Given the description of an element on the screen output the (x, y) to click on. 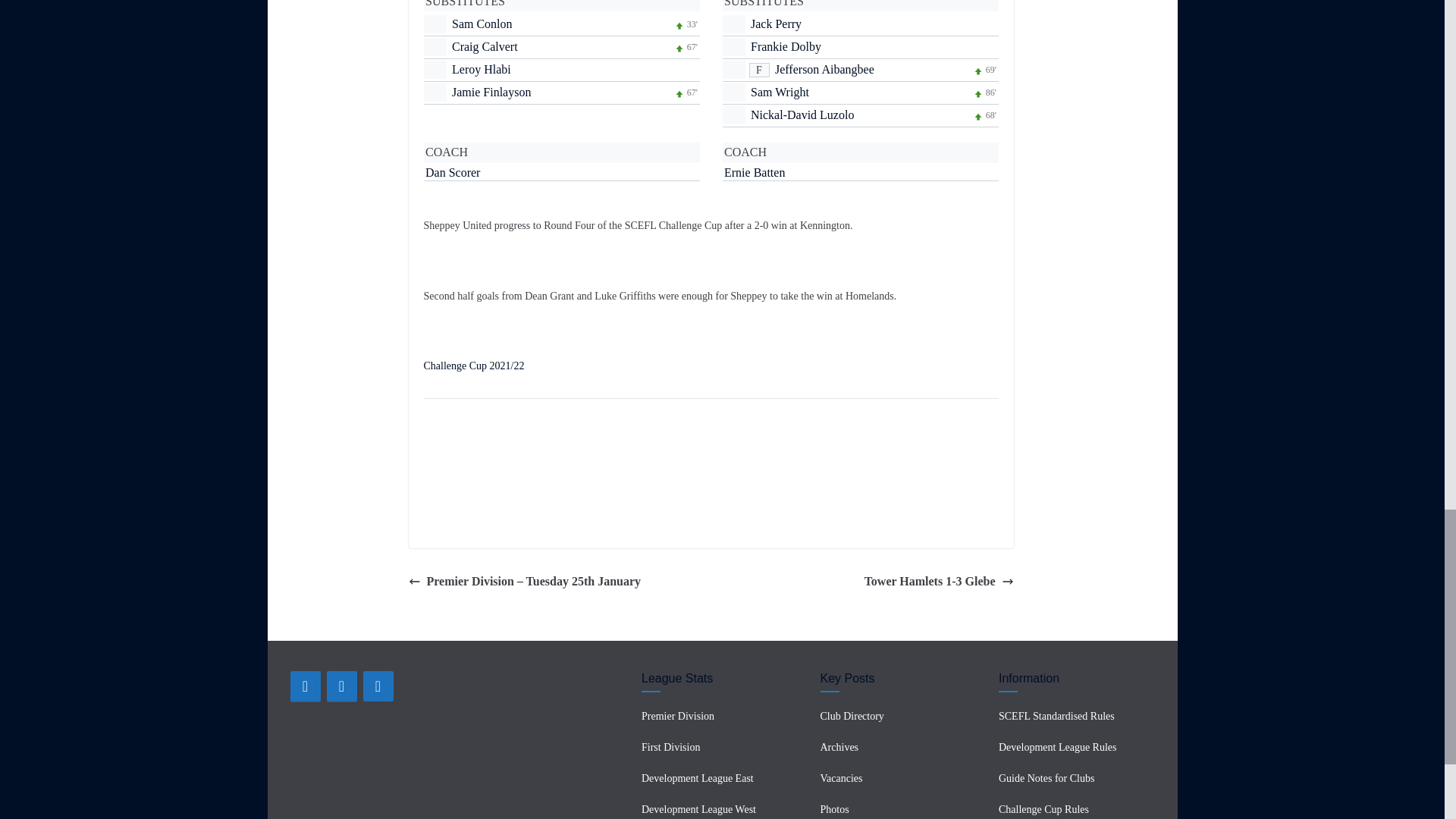
Facebook (304, 685)
Instagram (377, 685)
Twitter (341, 685)
